Given the description of an element on the screen output the (x, y) to click on. 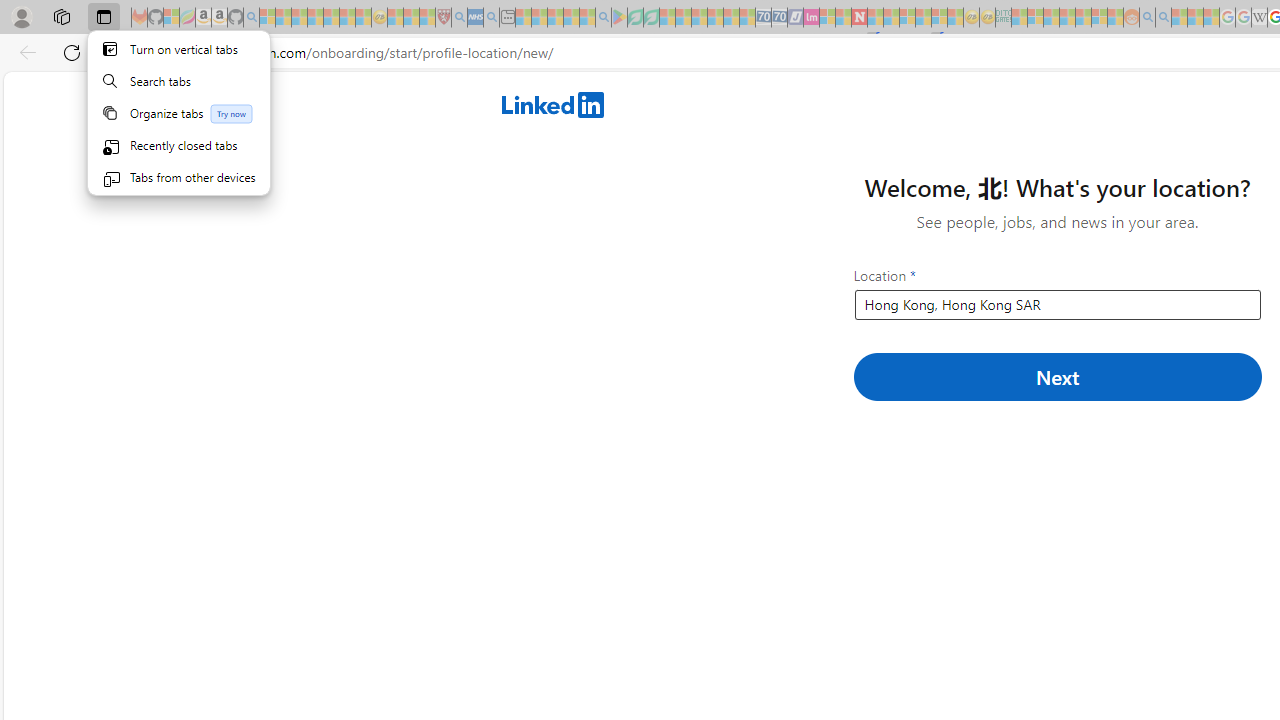
Bluey: Let's Play! - Apps on Google Play - Sleeping (619, 17)
Organize tabs (179, 112)
Tabs from other devices (179, 176)
Recently closed tabs (179, 144)
Terms of Use Agreement - Sleeping (635, 17)
